Given the description of an element on the screen output the (x, y) to click on. 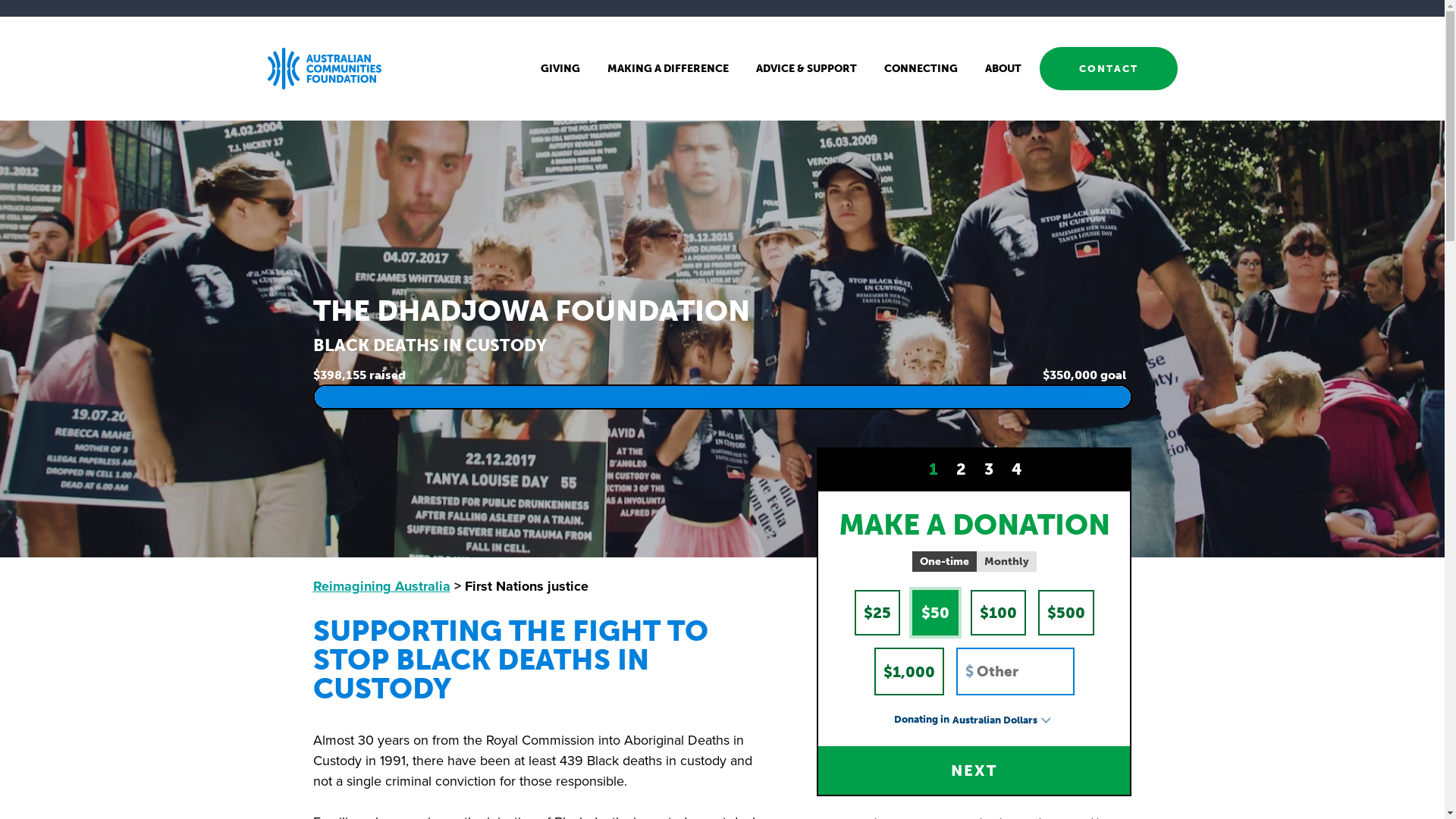
ABOUT Element type: text (1002, 67)
monthly Element type: text (1006, 561)
$25 Element type: text (877, 612)
MAKING A DIFFERENCE Element type: text (667, 67)
$1,000 Element type: text (909, 671)
GIVING Element type: text (559, 67)
CONNECTING Element type: text (920, 67)
CONTACT Element type: text (1107, 68)
ADVICE & SUPPORT Element type: text (805, 67)
one-time Element type: text (944, 561)
$500 Element type: text (1066, 612)
$50 Element type: text (935, 612)
$100 Element type: text (998, 612)
NEXT Element type: text (973, 770)
Reimagining Australia Element type: text (380, 585)
